Given the description of an element on the screen output the (x, y) to click on. 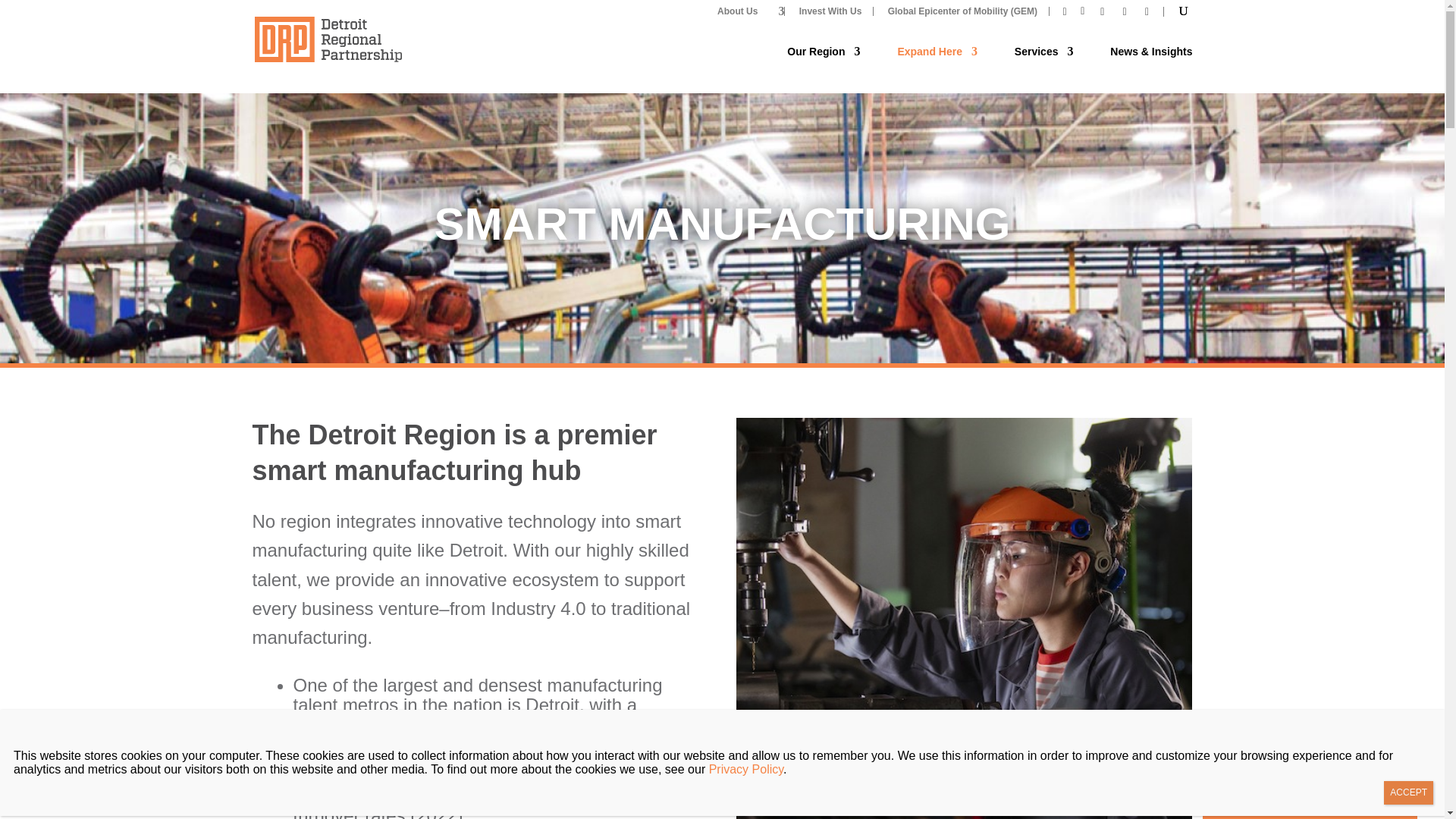
Services (1044, 60)
Our Region (823, 60)
Invest With Us (830, 10)
Expand Here (936, 60)
About Us (745, 10)
